Given the description of an element on the screen output the (x, y) to click on. 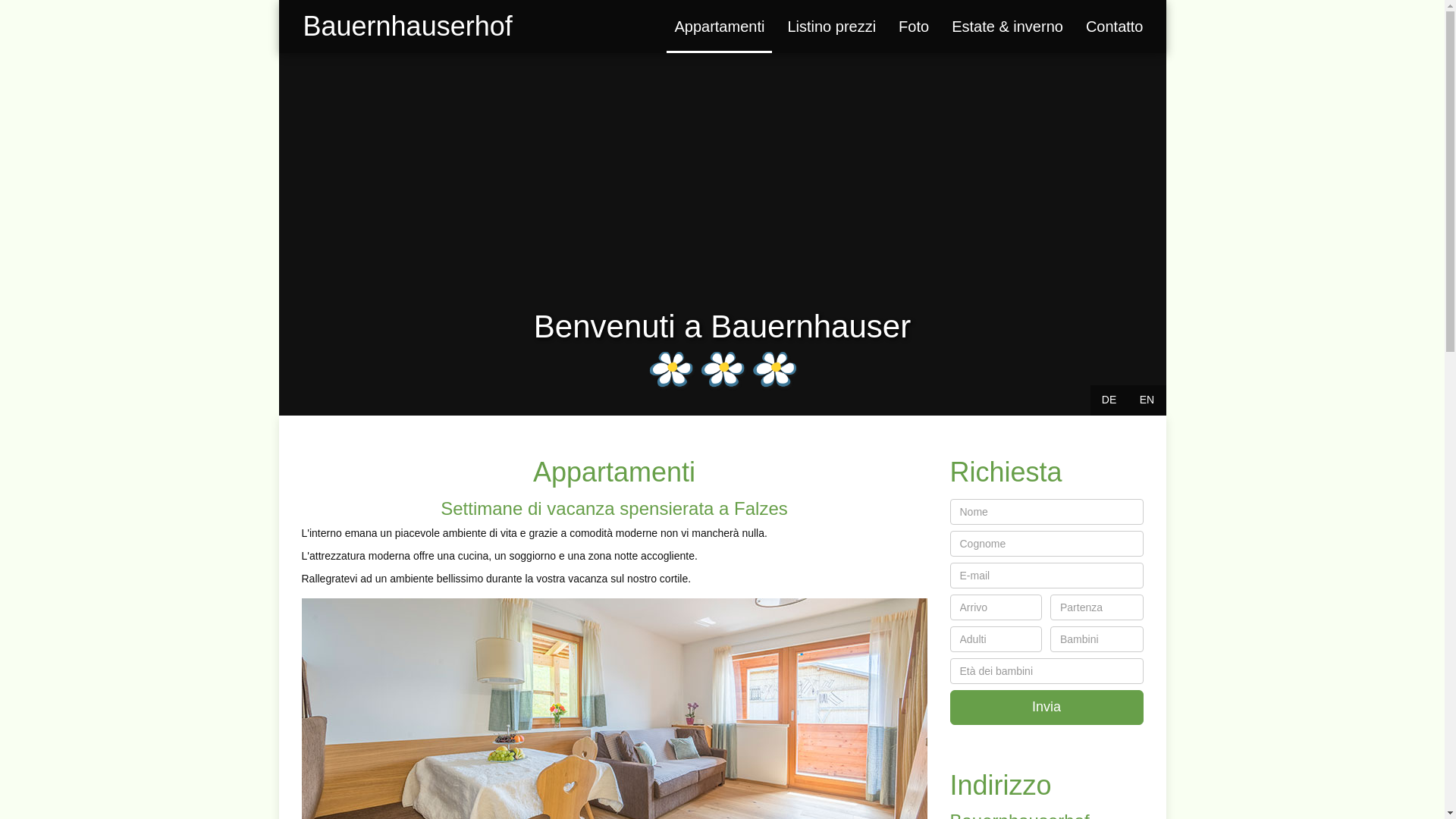
Listino prezzi (831, 26)
Contatto (1114, 26)
Appartamenti (719, 26)
Invia (1045, 707)
DE (1109, 399)
Foto (913, 26)
Bauernhauserhof (406, 26)
EN (1147, 399)
